Given the description of an element on the screen output the (x, y) to click on. 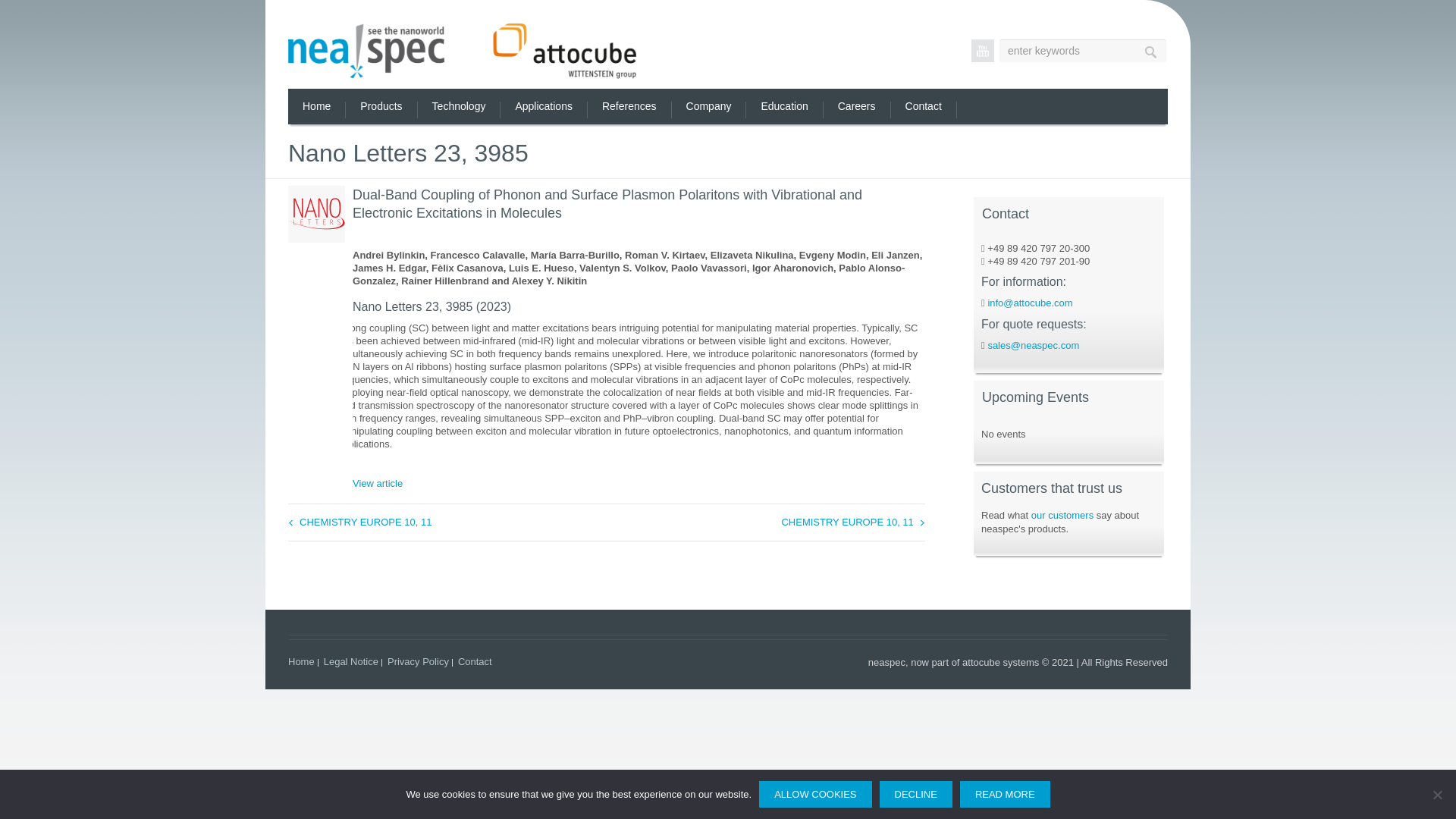
Applications (543, 106)
Education (783, 106)
Technology (458, 106)
neaspec (462, 50)
Products (380, 106)
Company (708, 106)
References (628, 106)
Contact (922, 106)
Careers (856, 106)
Home (316, 106)
